Given the description of an element on the screen output the (x, y) to click on. 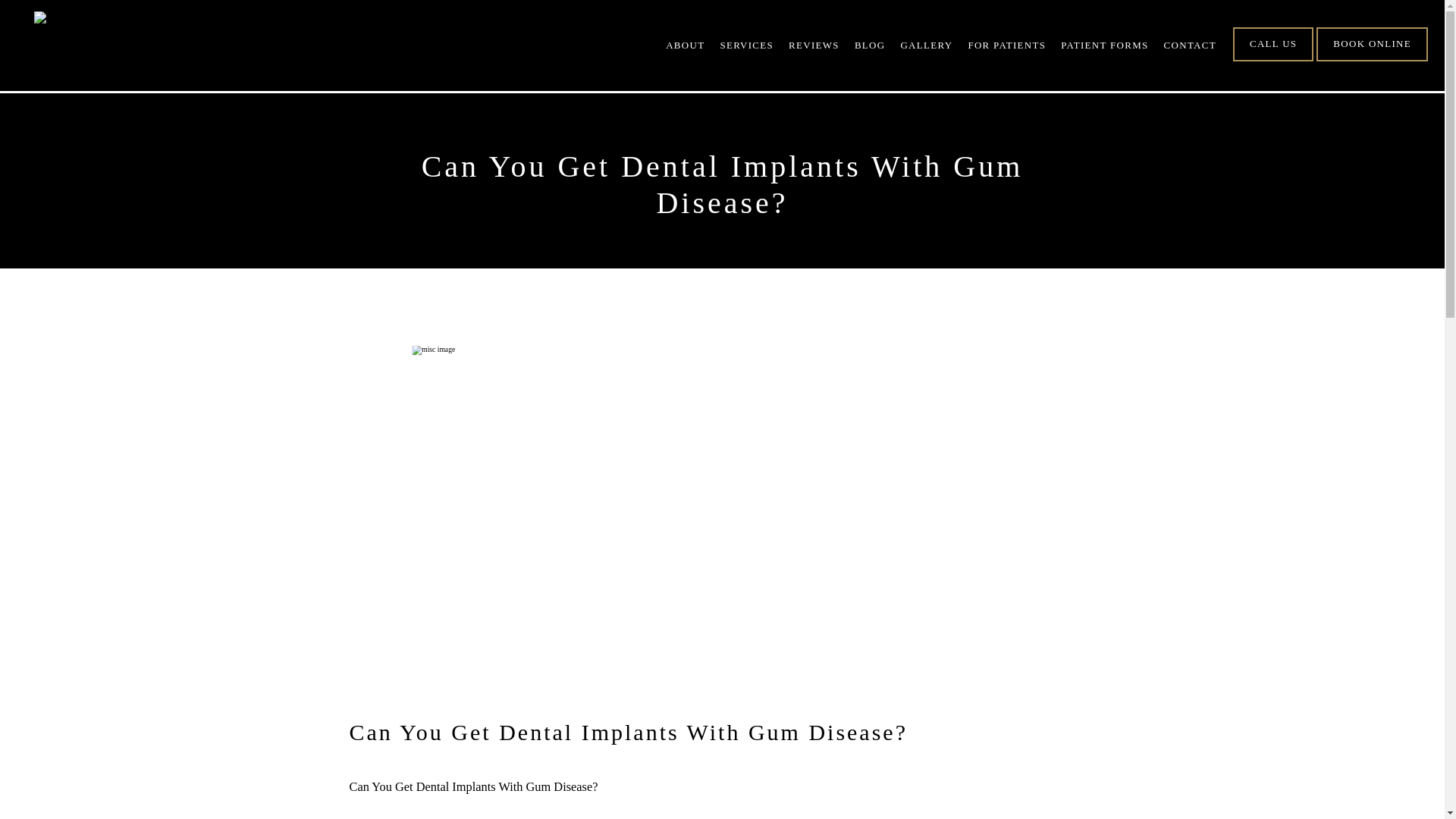
BLOG (869, 44)
ABOUT (684, 44)
BOOK ONLINE (1371, 59)
REVIEWS (814, 44)
CONTACT (1189, 44)
CALL US (1272, 59)
GALLERY (925, 44)
SERVICES (746, 44)
